Given the description of an element on the screen output the (x, y) to click on. 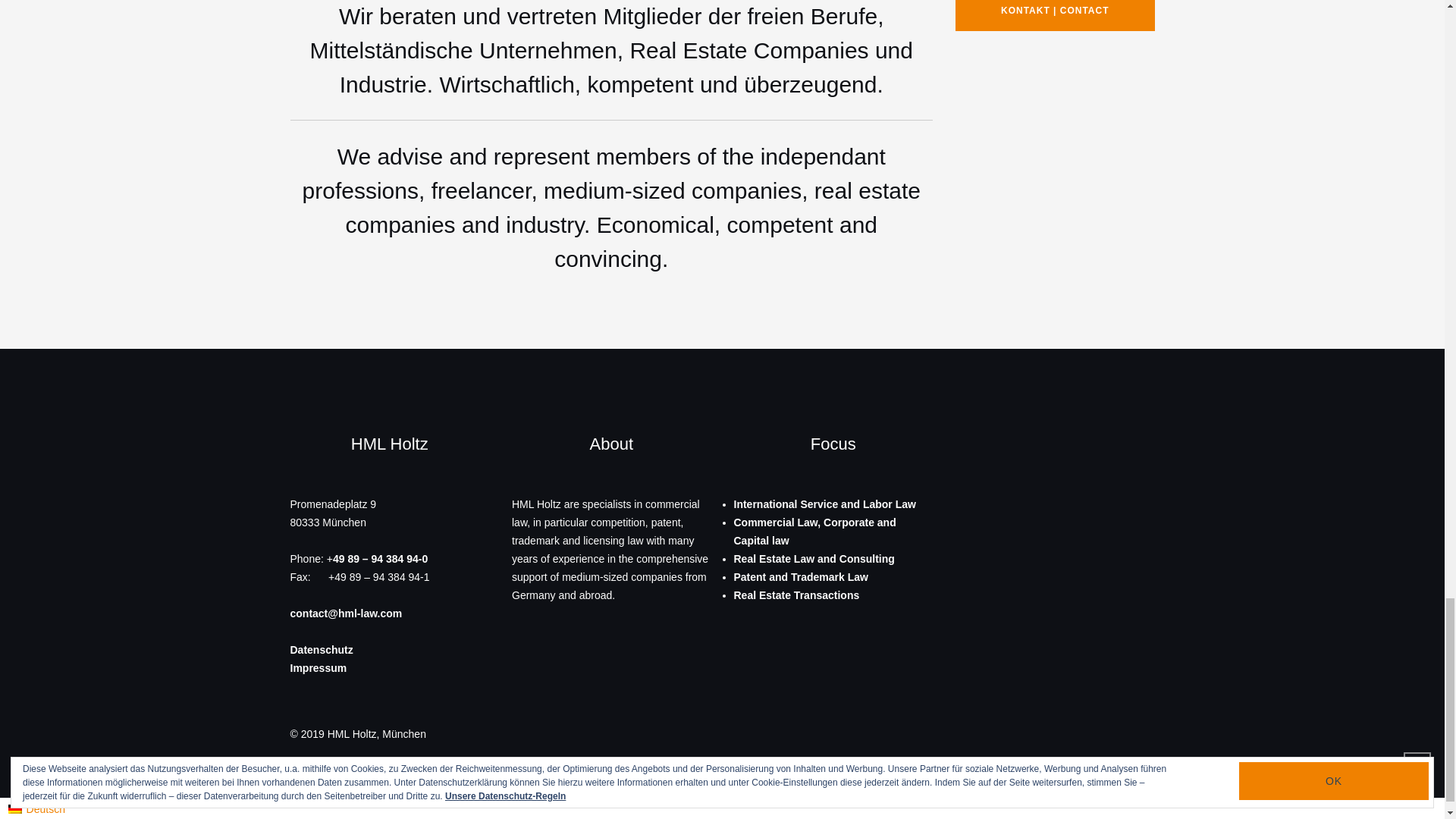
Datenschutz (320, 649)
Commercial Law, Corporate and Capital law (814, 531)
Patent and Trademark Law (800, 576)
International Service and Labor Law (824, 503)
Real Estate Law and Consulting (814, 558)
Deutsch (14, 809)
Deutsch (36, 808)
Impressum (317, 667)
Real Estate Transactions (796, 594)
